Given the description of an element on the screen output the (x, y) to click on. 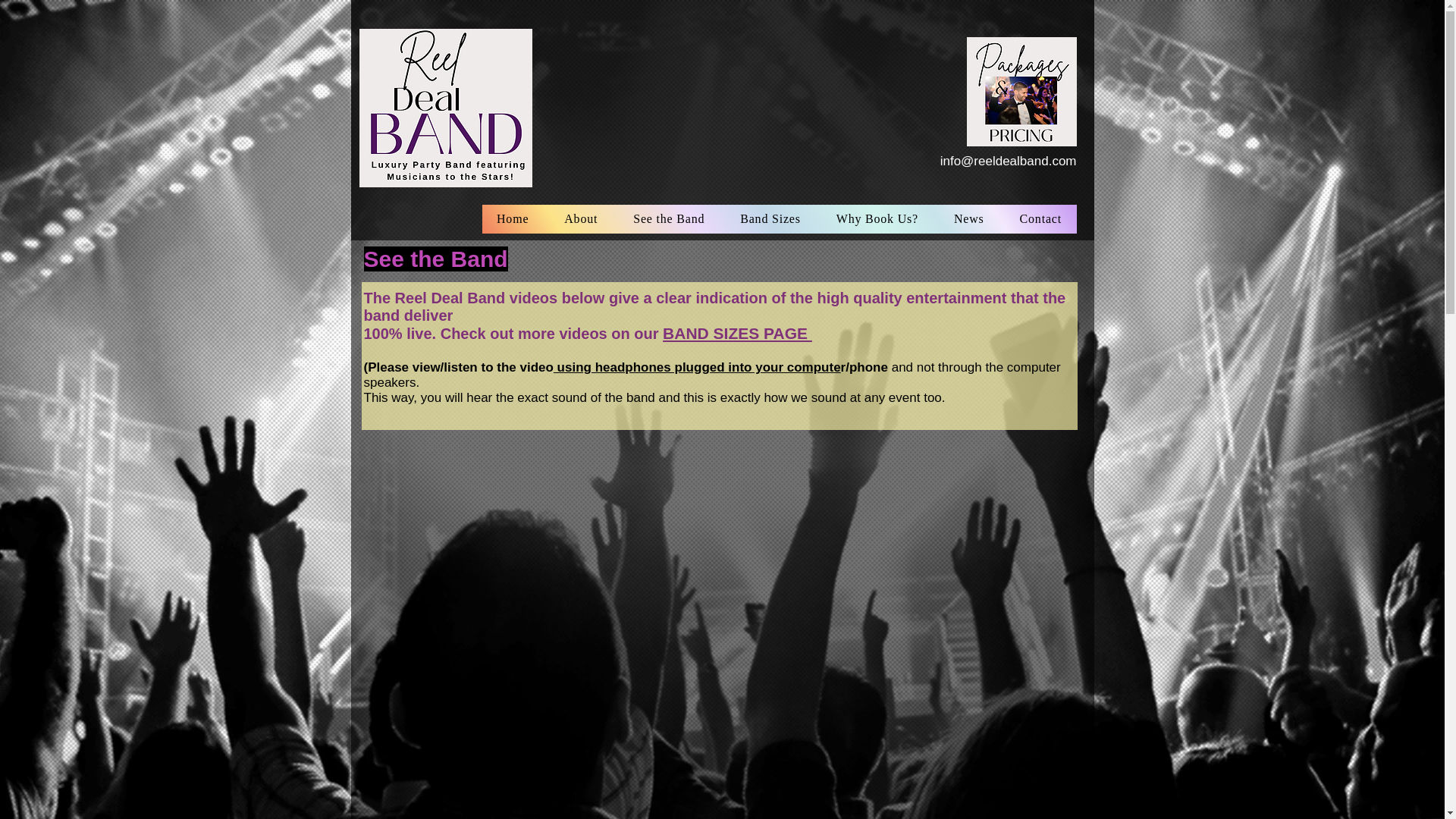
News (968, 218)
Contact (1039, 218)
BAND SIZES PAGE  (737, 333)
Home (512, 218)
About (581, 218)
